Given the description of an element on the screen output the (x, y) to click on. 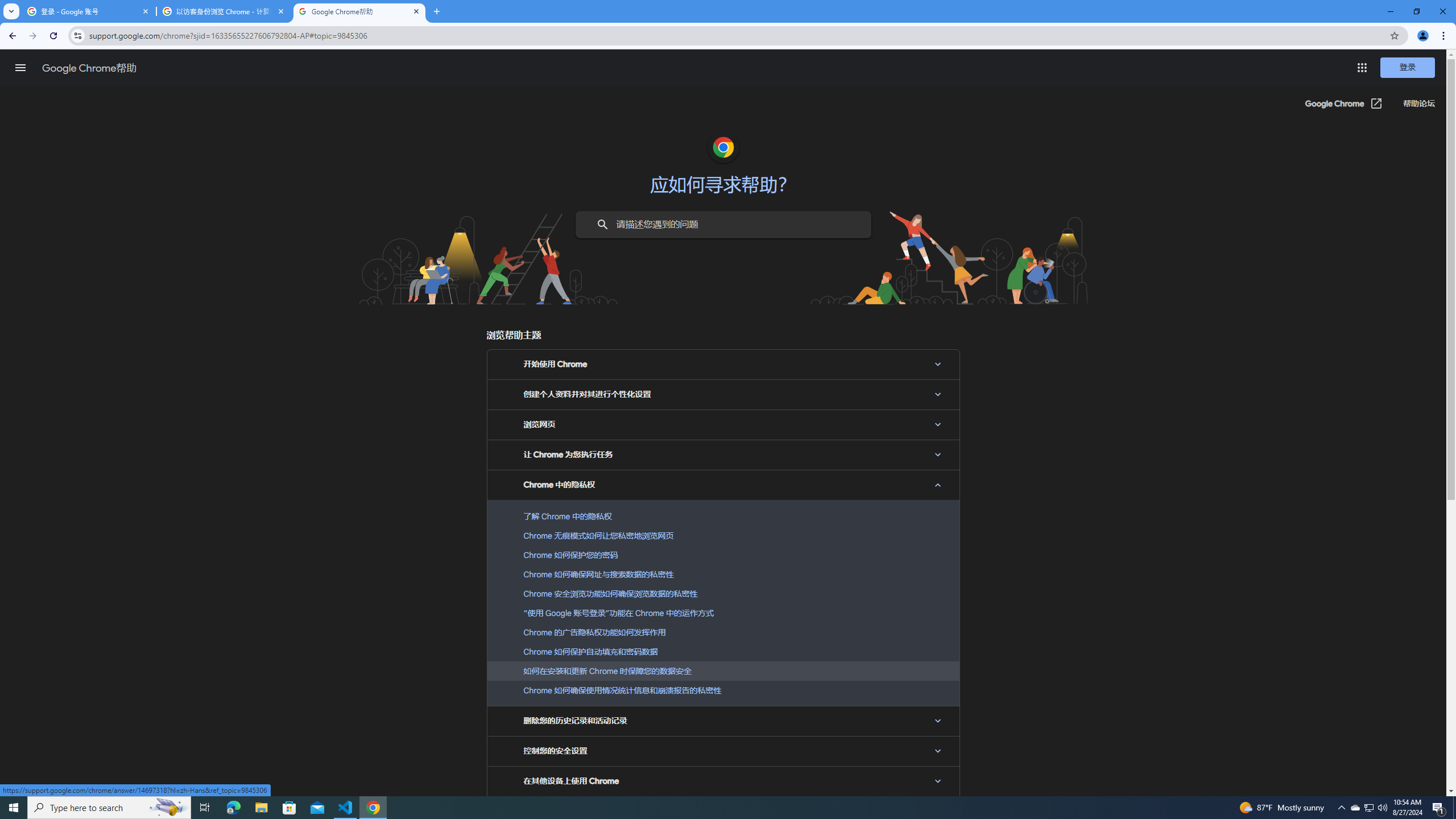
Bookmark this tab (1393, 35)
View site information (77, 35)
Minimize (1390, 11)
You (1422, 35)
Search tabs (10, 11)
Close (415, 11)
System (6, 6)
